Given the description of an element on the screen output the (x, y) to click on. 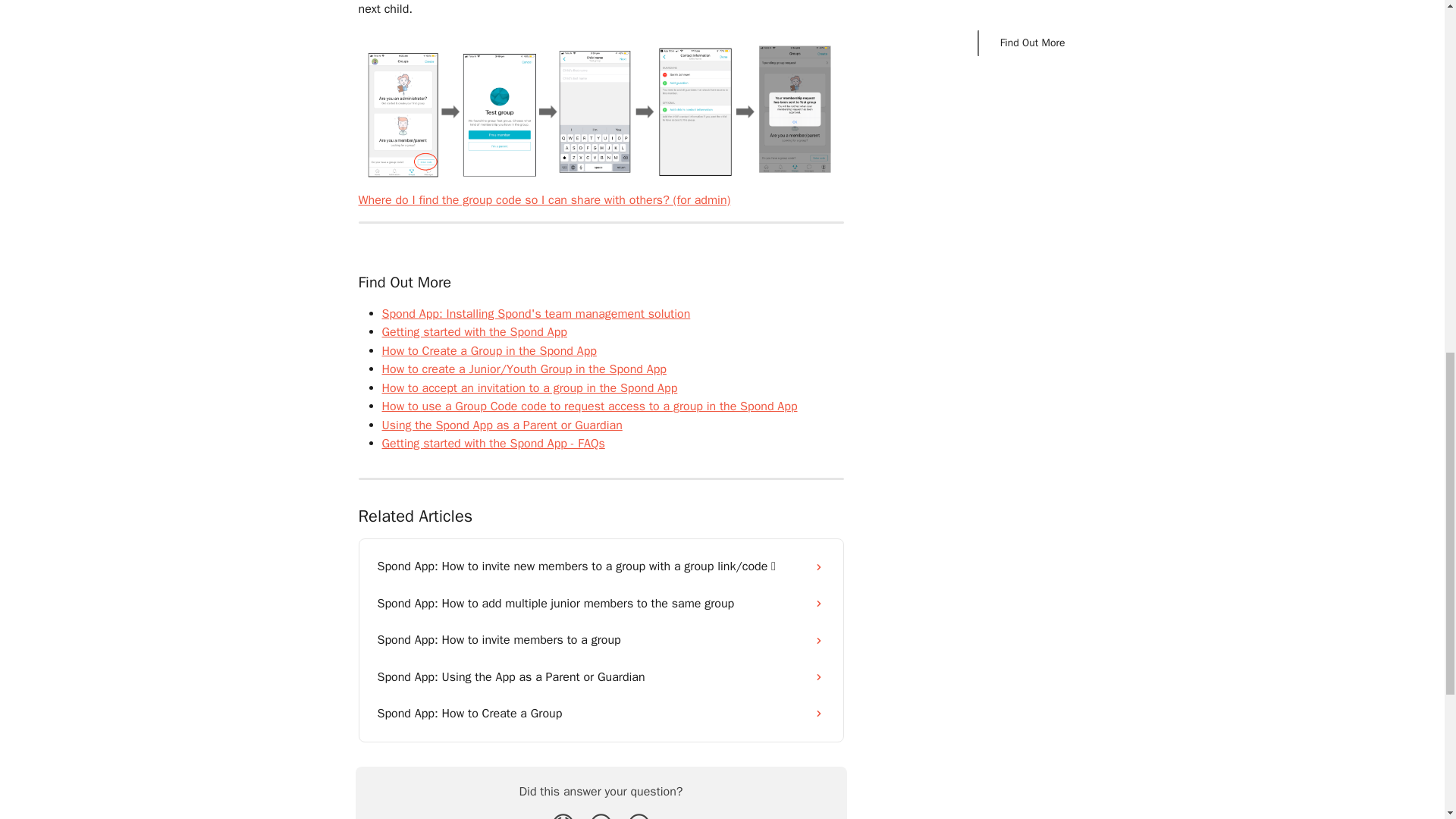
Spond App: How to Create a Group (601, 713)
Spond App: How to invite members to a group (601, 639)
Spond App: Using the App as a Parent or Guardian (601, 677)
Smiley (638, 814)
Disappointed (562, 814)
Using the Spond App as a Parent or Guardian (502, 425)
Spond App: Installing Spond's team management solution (535, 313)
Neutral (600, 814)
How to accept an invitation to a group in the Spond App (529, 387)
Getting started with the Spond App - FAQs (493, 443)
